Given the description of an element on the screen output the (x, y) to click on. 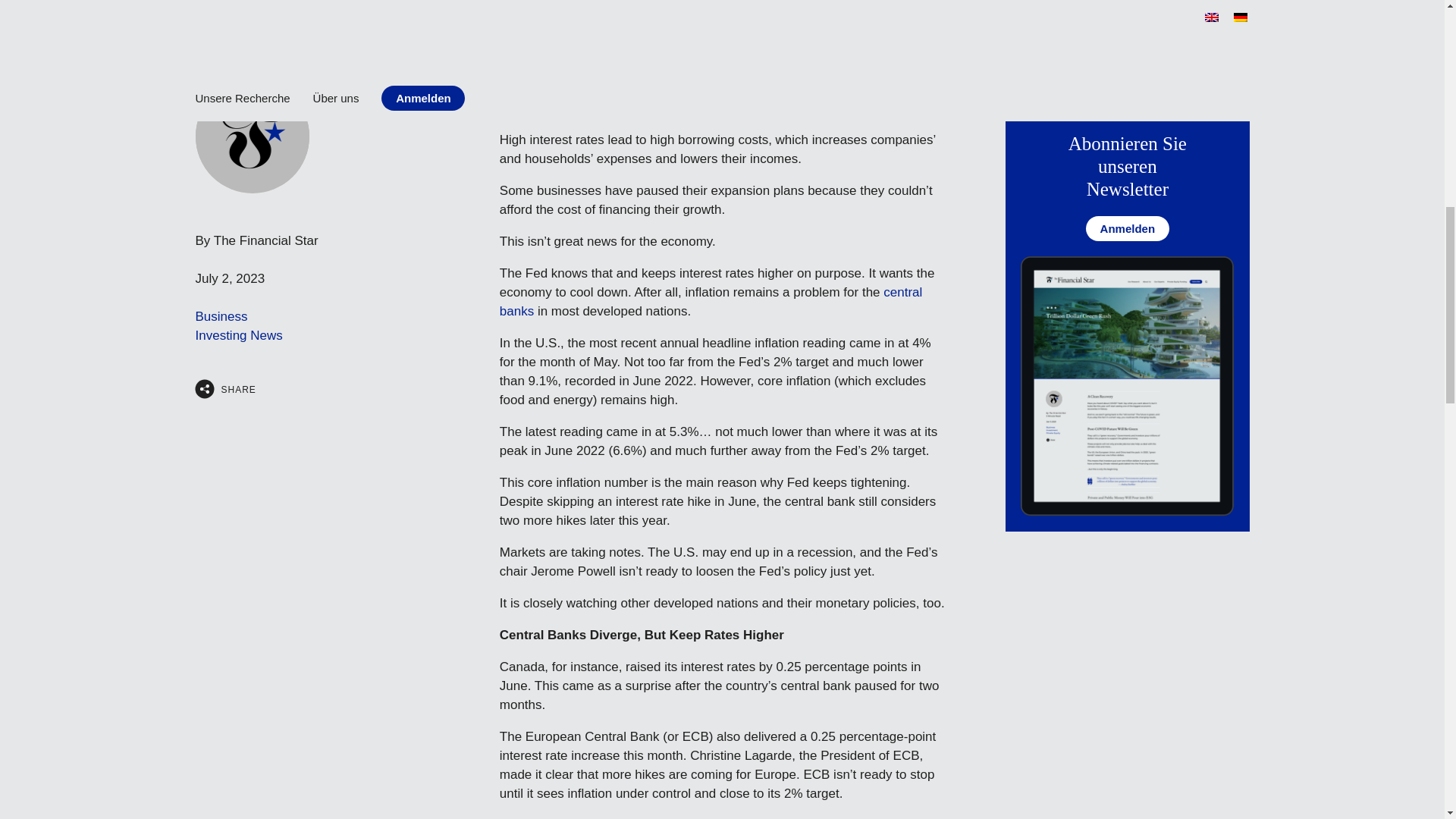
View all social sharing options (204, 388)
Business (221, 316)
central banks (711, 301)
Anmelden (1127, 228)
Investing News (238, 335)
